Given the description of an element on the screen output the (x, y) to click on. 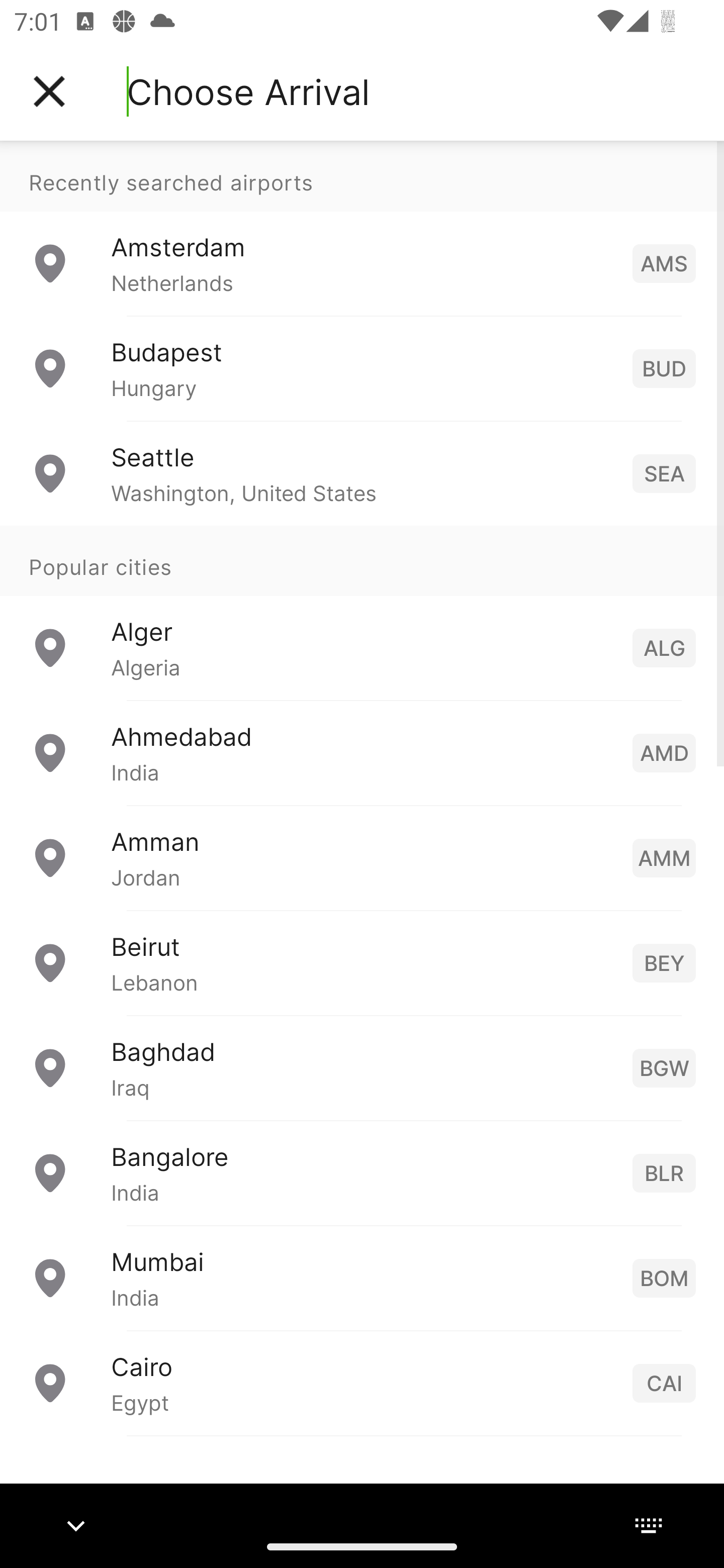
Choose Arrival (247, 91)
Recently searched airports (362, 176)
Budapest Hungary BUD (362, 367)
Seattle Washington, United States SEA (362, 472)
Popular cities Alger Algeria ALG (362, 612)
Popular cities (362, 560)
Ahmedabad India AMD (362, 751)
Amman Jordan AMM (362, 856)
Beirut Lebanon BEY (362, 961)
Baghdad Iraq BGW (362, 1066)
Bangalore India BLR (362, 1171)
Mumbai India BOM (362, 1276)
Cairo Egypt CAI (362, 1381)
